Given the description of an element on the screen output the (x, y) to click on. 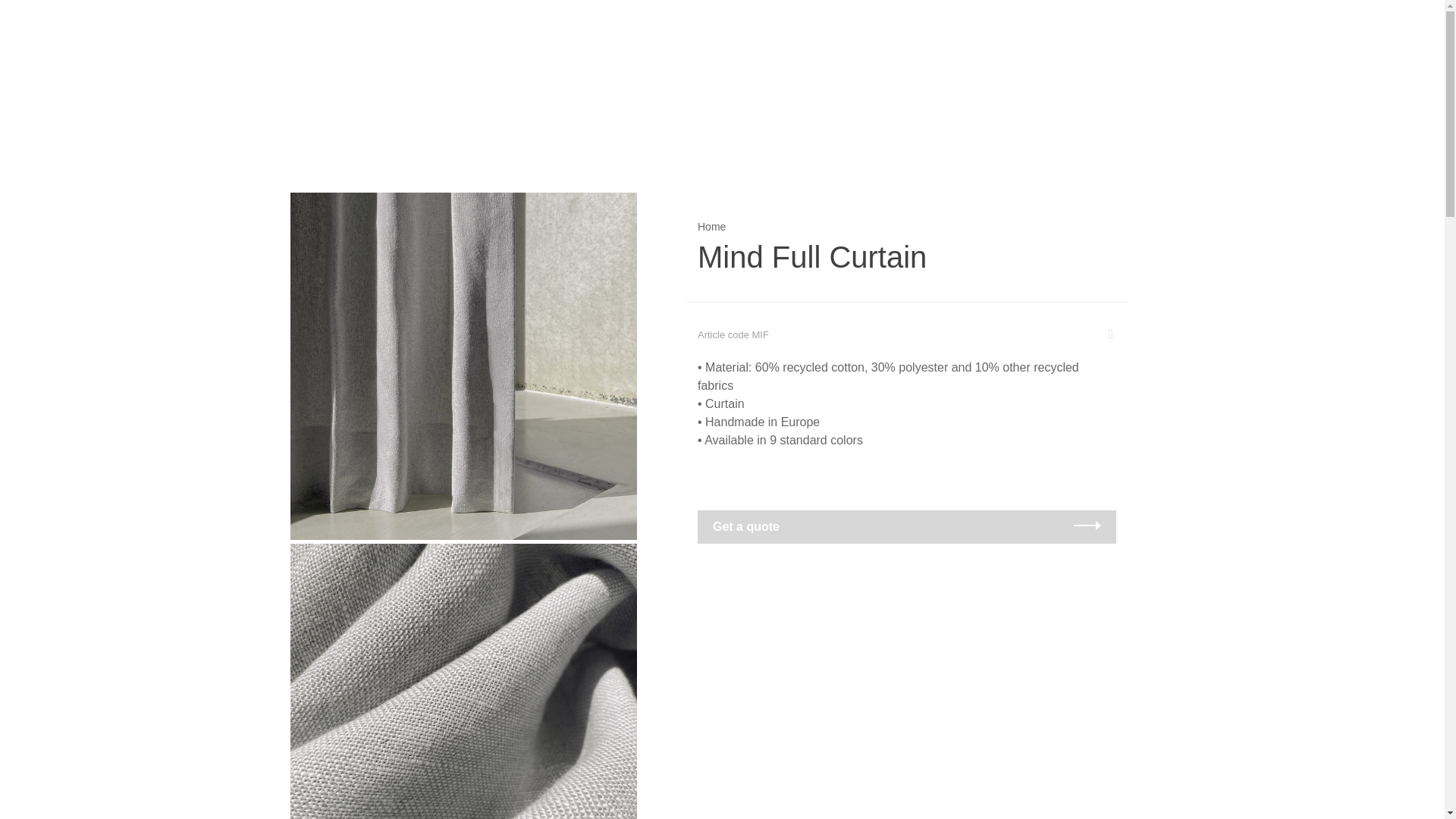
Home (711, 226)
